Given the description of an element on the screen output the (x, y) to click on. 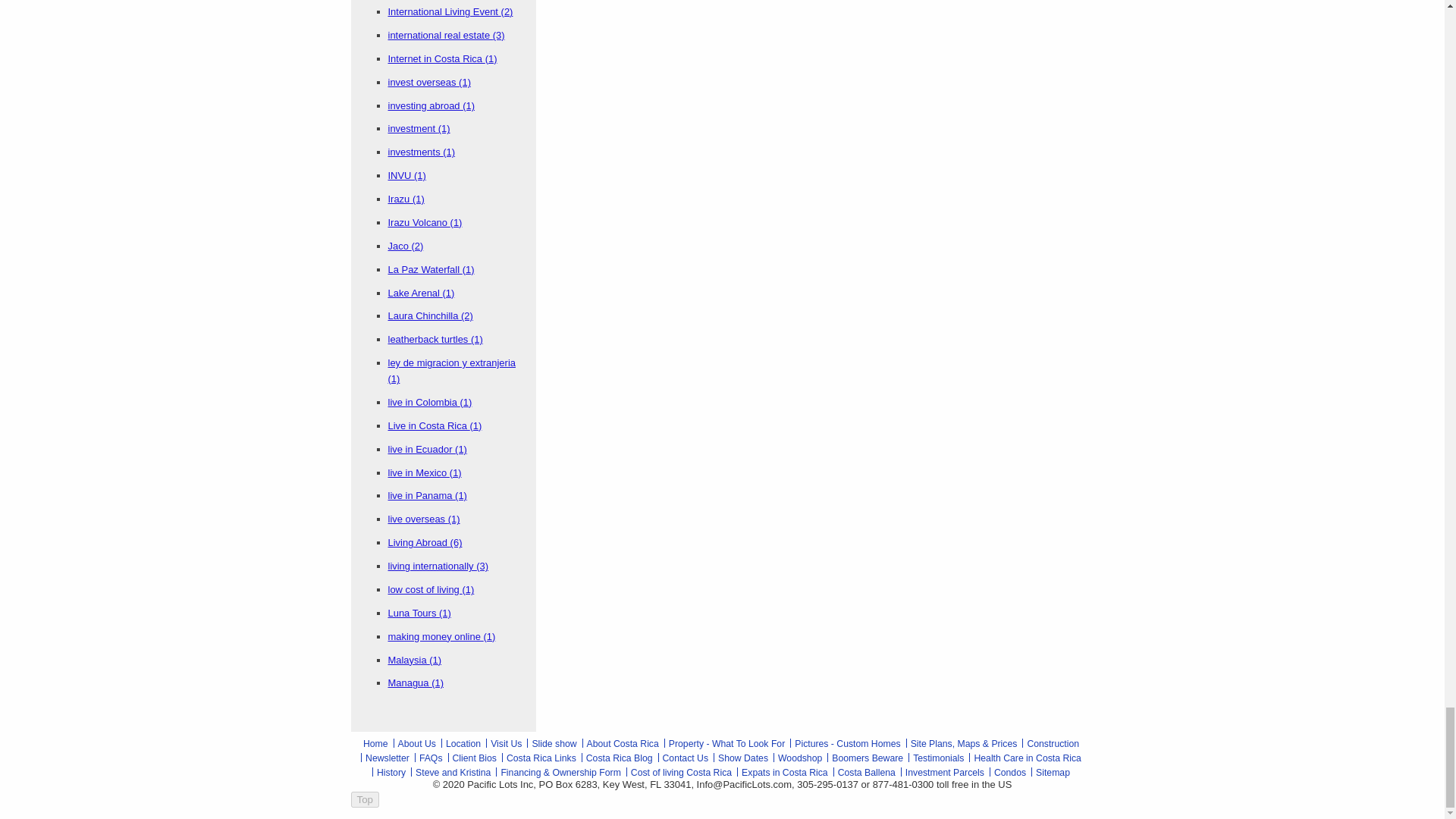
Go to top (364, 799)
